Given the description of an element on the screen output the (x, y) to click on. 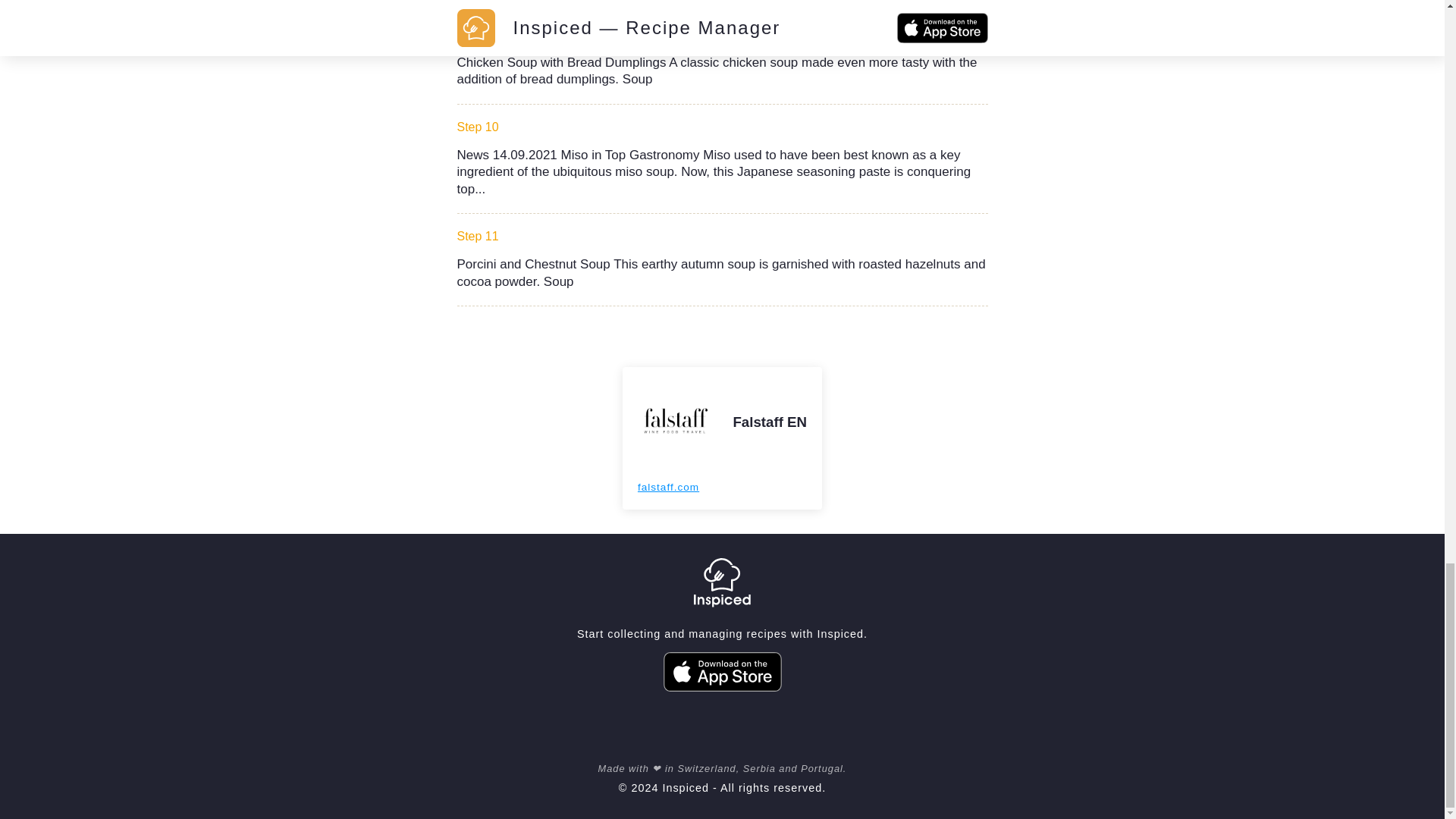
falstaff.com (667, 487)
Falstaff EN (769, 421)
